Given the description of an element on the screen output the (x, y) to click on. 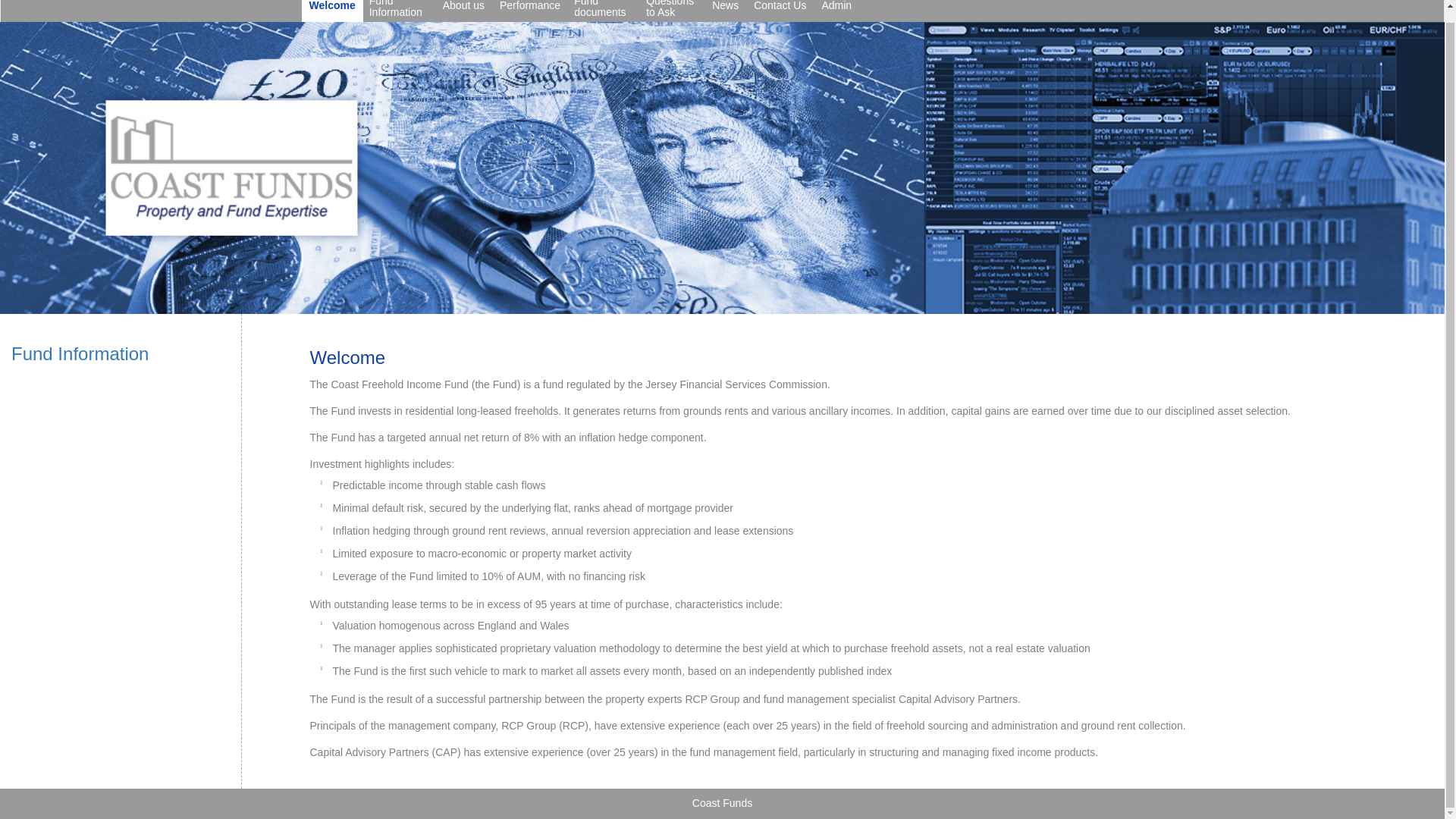
Fund Information (79, 353)
Welcome (331, 11)
Performance (529, 11)
Fund documents (603, 11)
Questions to Ask (672, 11)
About us (463, 11)
Admin (836, 11)
News (724, 11)
Fund Information (398, 11)
Contact Us (779, 11)
